Given the description of an element on the screen output the (x, y) to click on. 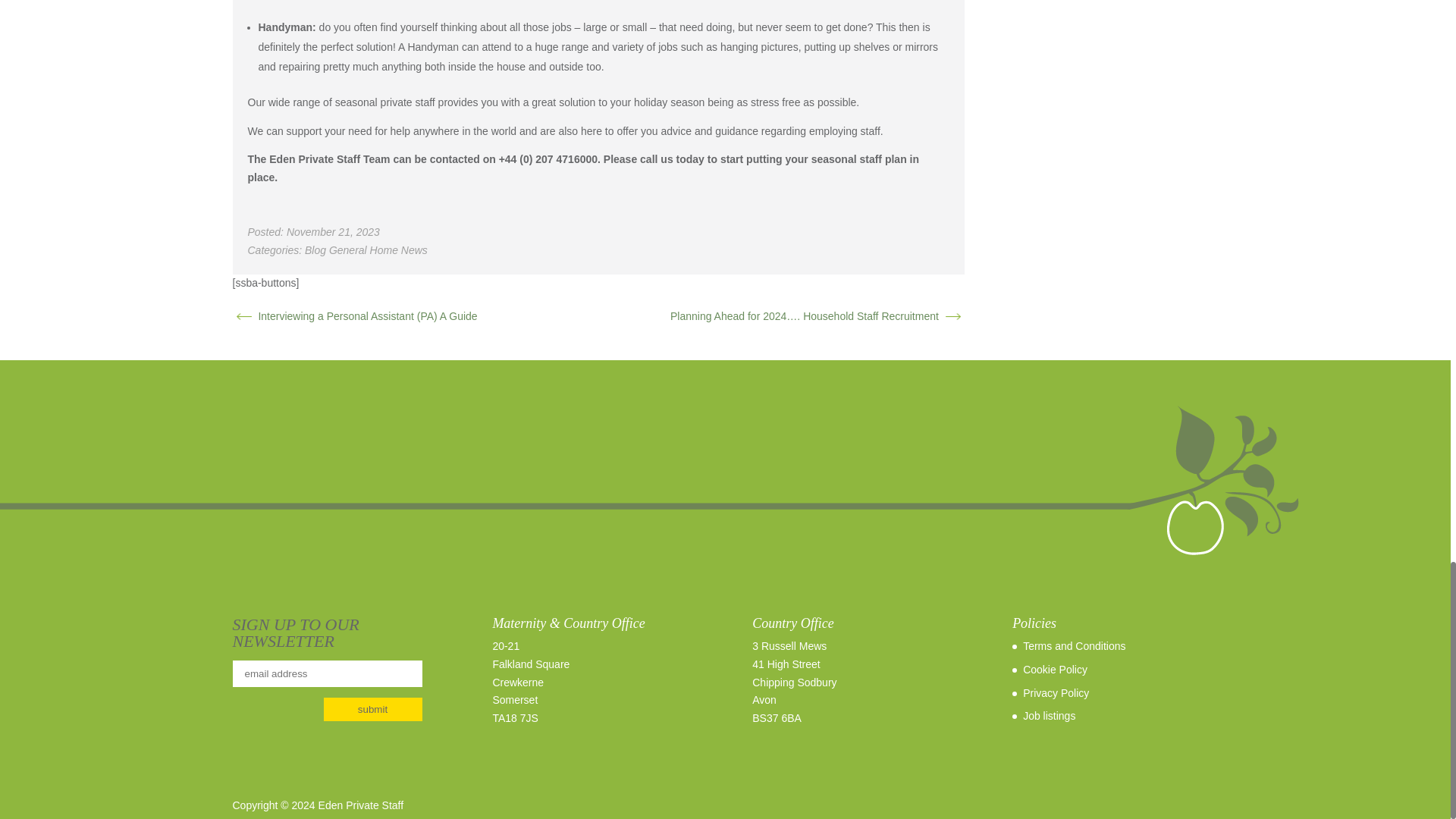
submit (372, 709)
